Given the description of an element on the screen output the (x, y) to click on. 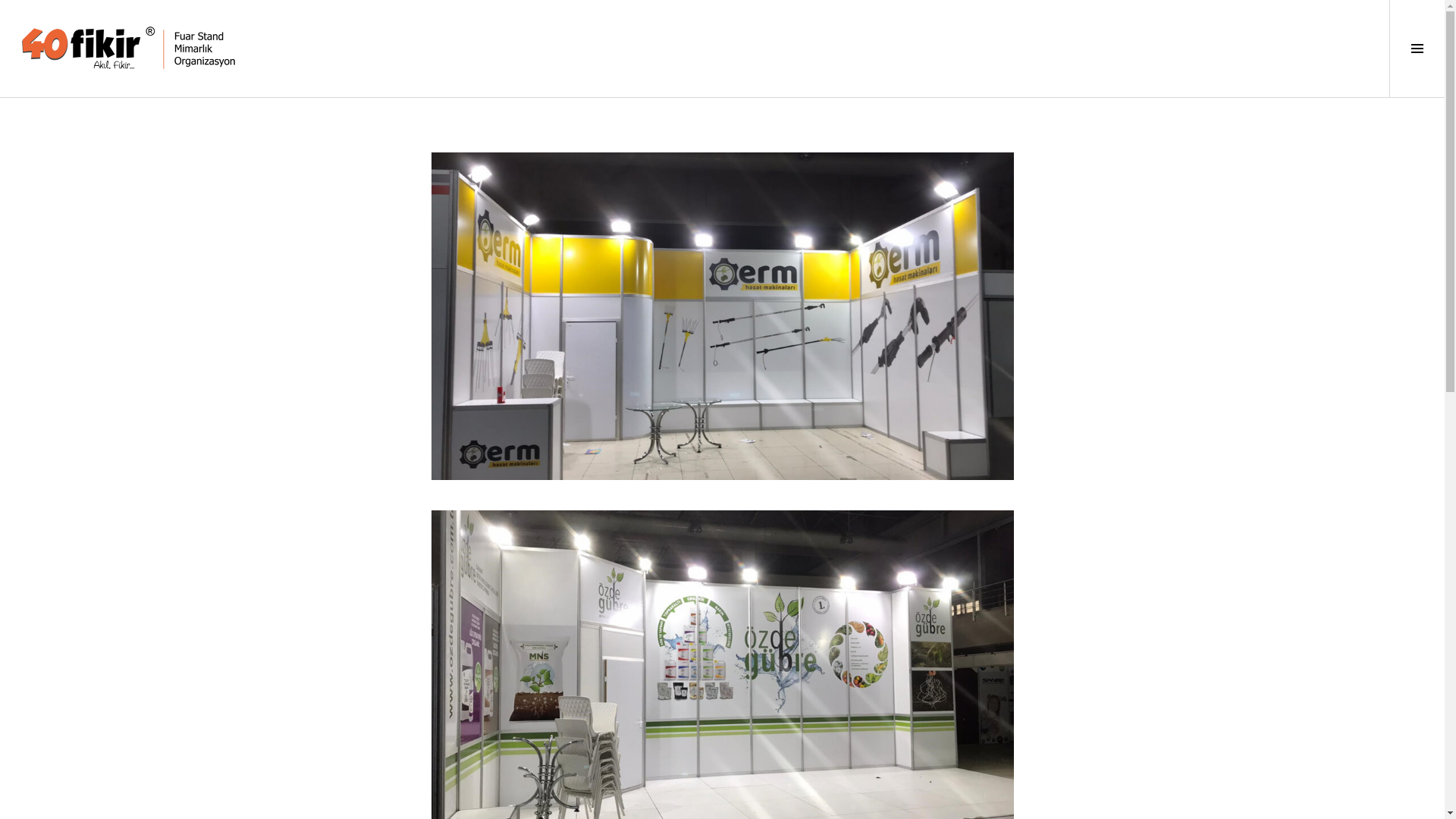
40fikir Element type: hover (128, 46)
Toggle Sidebar Element type: text (1416, 48)
